Given the description of an element on the screen output the (x, y) to click on. 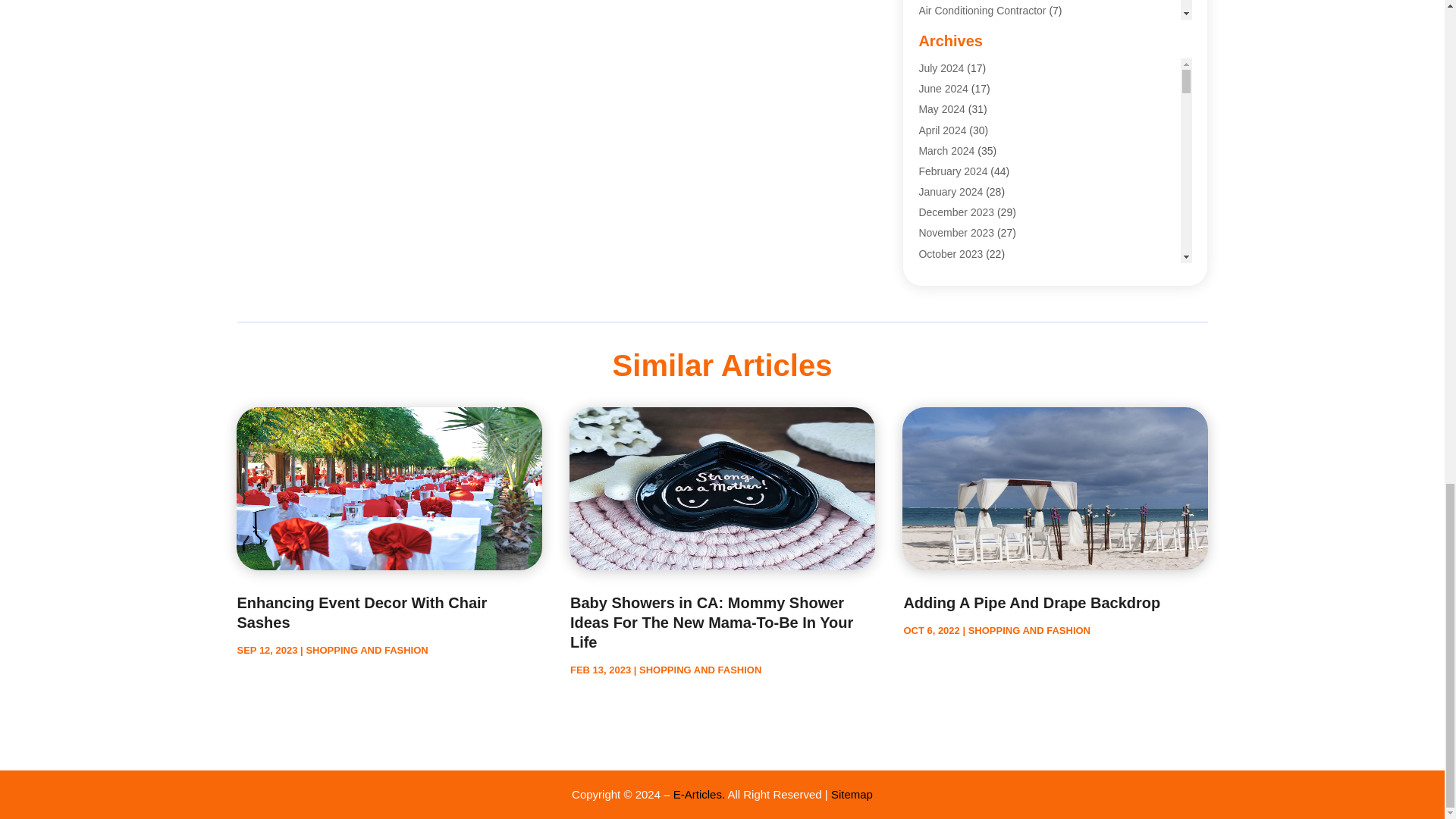
Air Conditioning Contractor (981, 10)
